Given the description of an element on the screen output the (x, y) to click on. 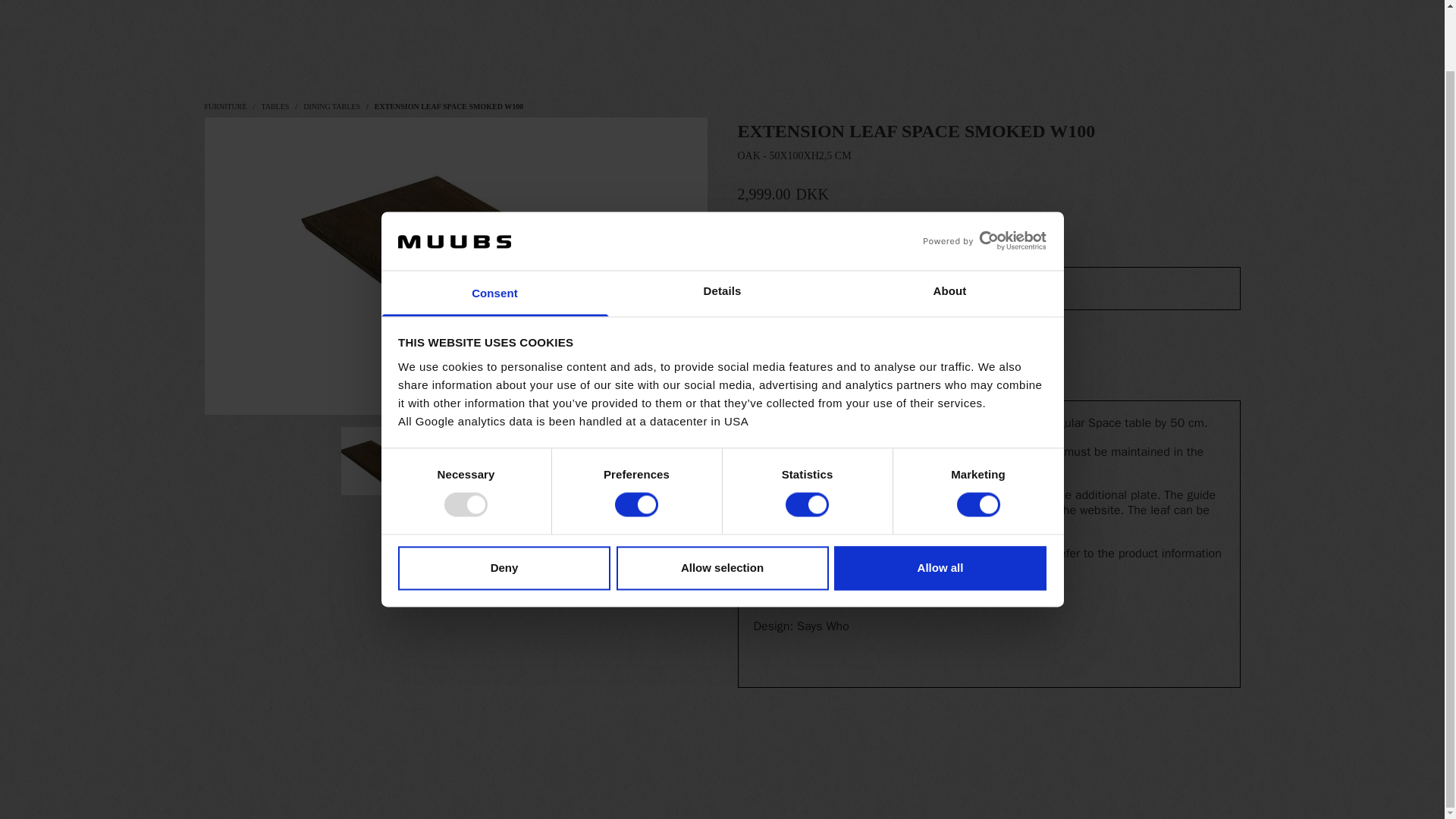
About (948, 226)
Details (721, 226)
Consent (494, 226)
